Given the description of an element on the screen output the (x, y) to click on. 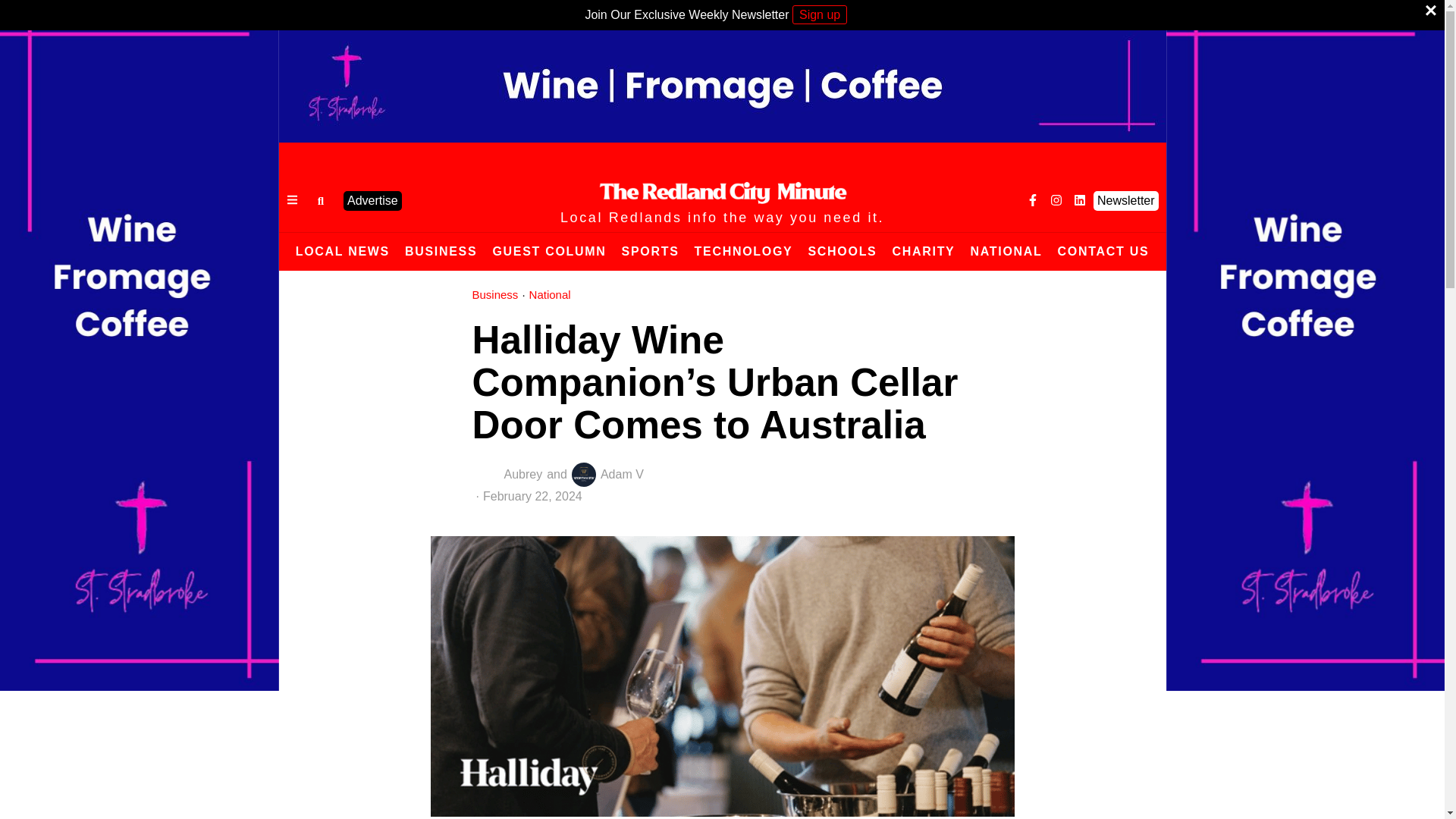
Sign up (819, 14)
CHARITY (922, 251)
BUSINESS (440, 251)
SPORTS (650, 251)
NATIONAL (1005, 251)
SCHOOLS (841, 251)
Go (319, 200)
CONTACT US (1103, 251)
Advertise (371, 200)
TECHNOLOGY (743, 251)
